Given the description of an element on the screen output the (x, y) to click on. 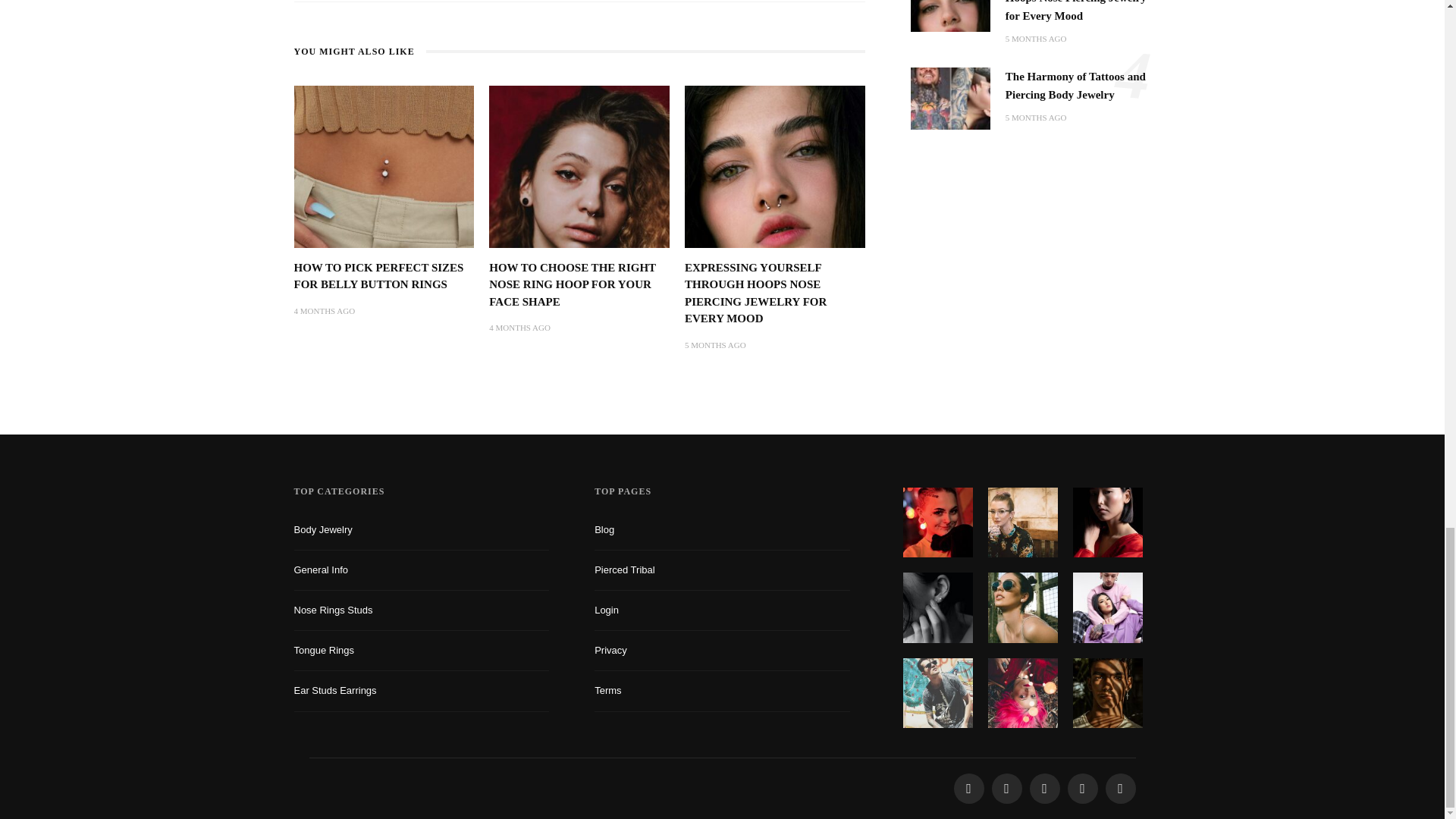
How To Choose The Right Nose Ring Hoop For Your Face Shape (572, 284)
How To Pick Perfect Sizes For Belly Button Rings (384, 164)
How To Pick Perfect Sizes For Belly Button Rings (379, 276)
How To Choose The Right Nose Ring Hoop For Your Face Shape (579, 164)
